Given the description of an element on the screen output the (x, y) to click on. 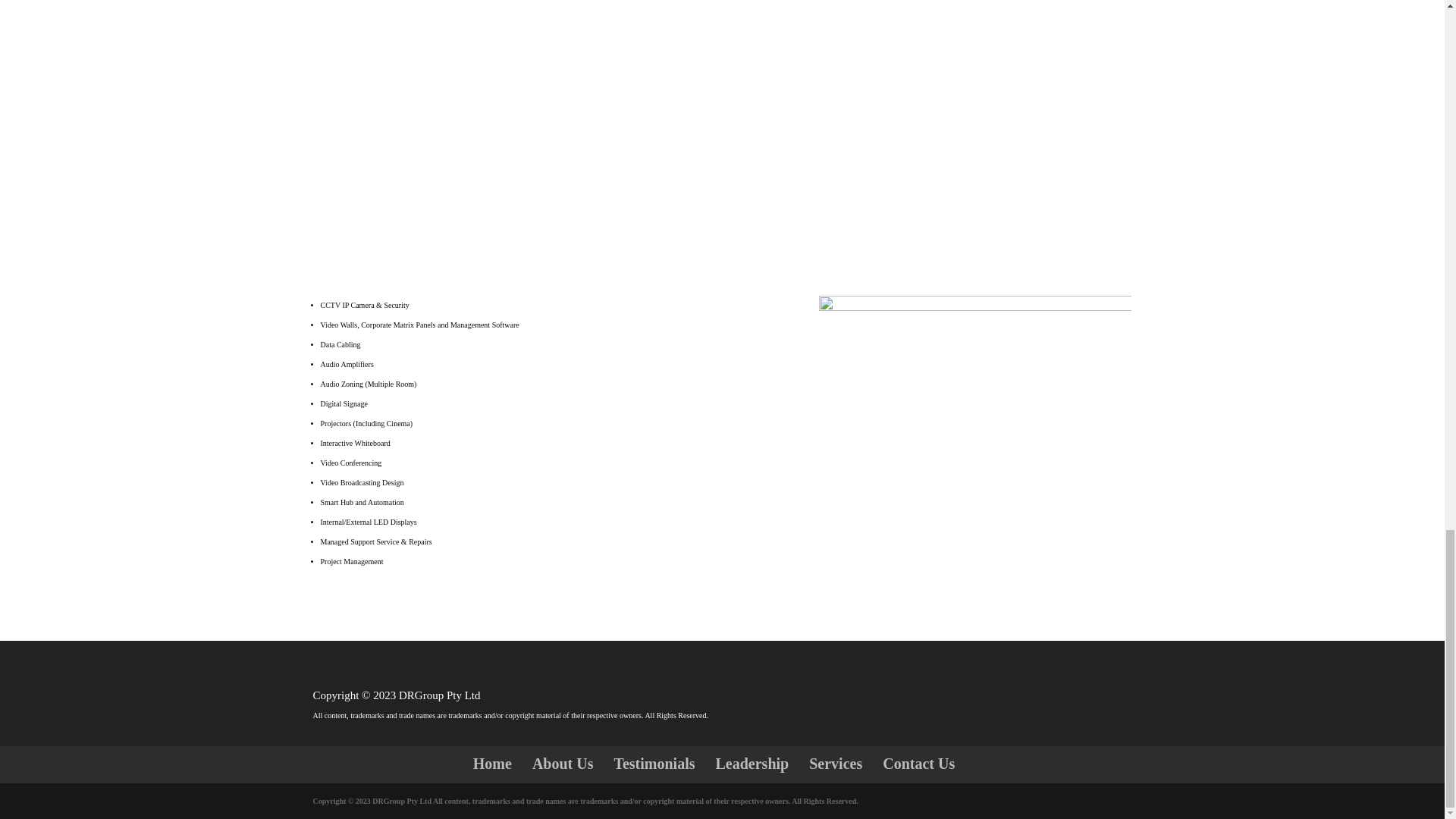
Contact Us (918, 763)
Services (835, 763)
About Us (563, 763)
server-1235959 (975, 399)
Testimonials (653, 763)
Home (492, 763)
Leadership (752, 763)
